Given the description of an element on the screen output the (x, y) to click on. 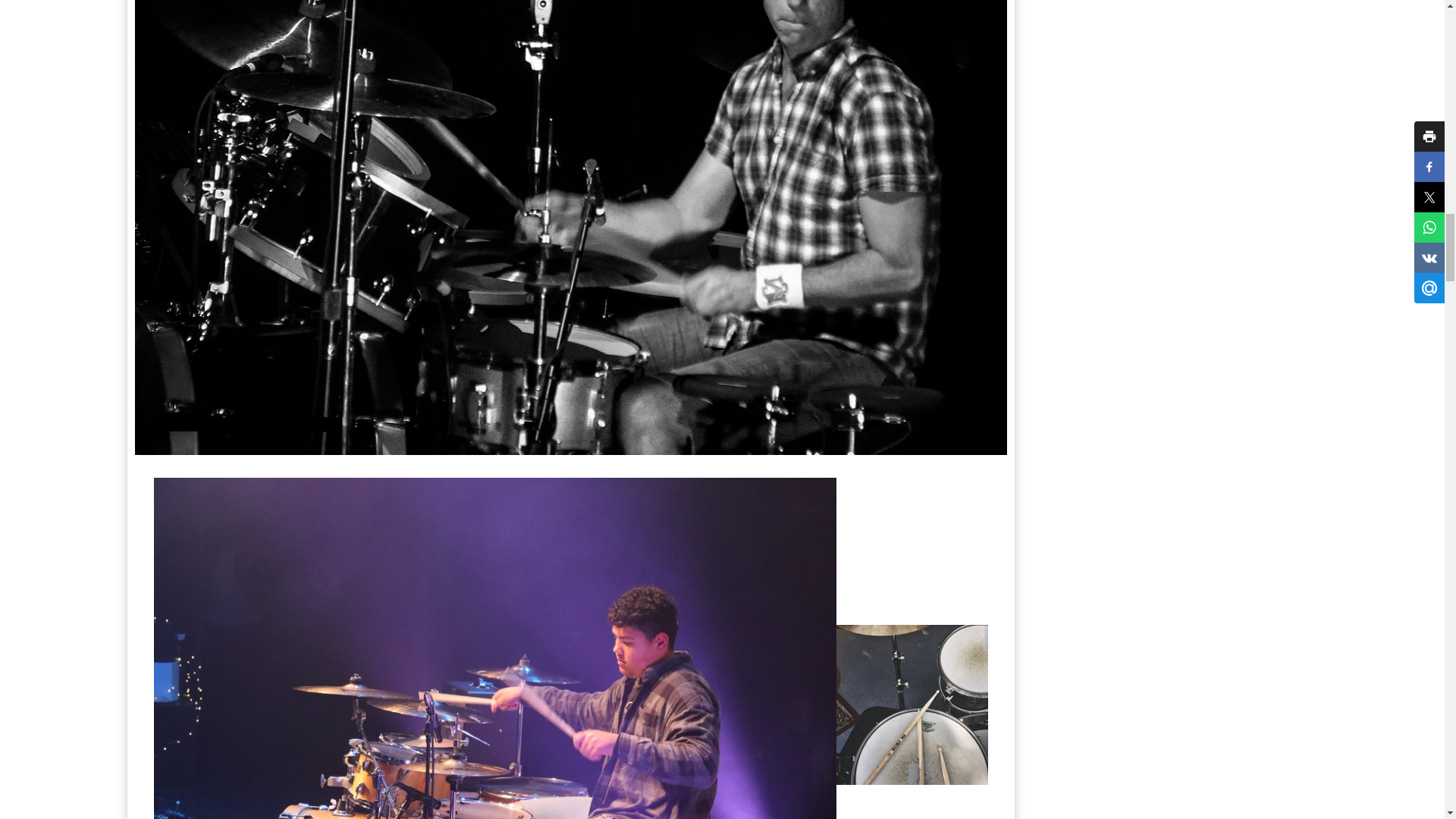
Ebony pussy with glasses (911, 704)
